Given the description of an element on the screen output the (x, y) to click on. 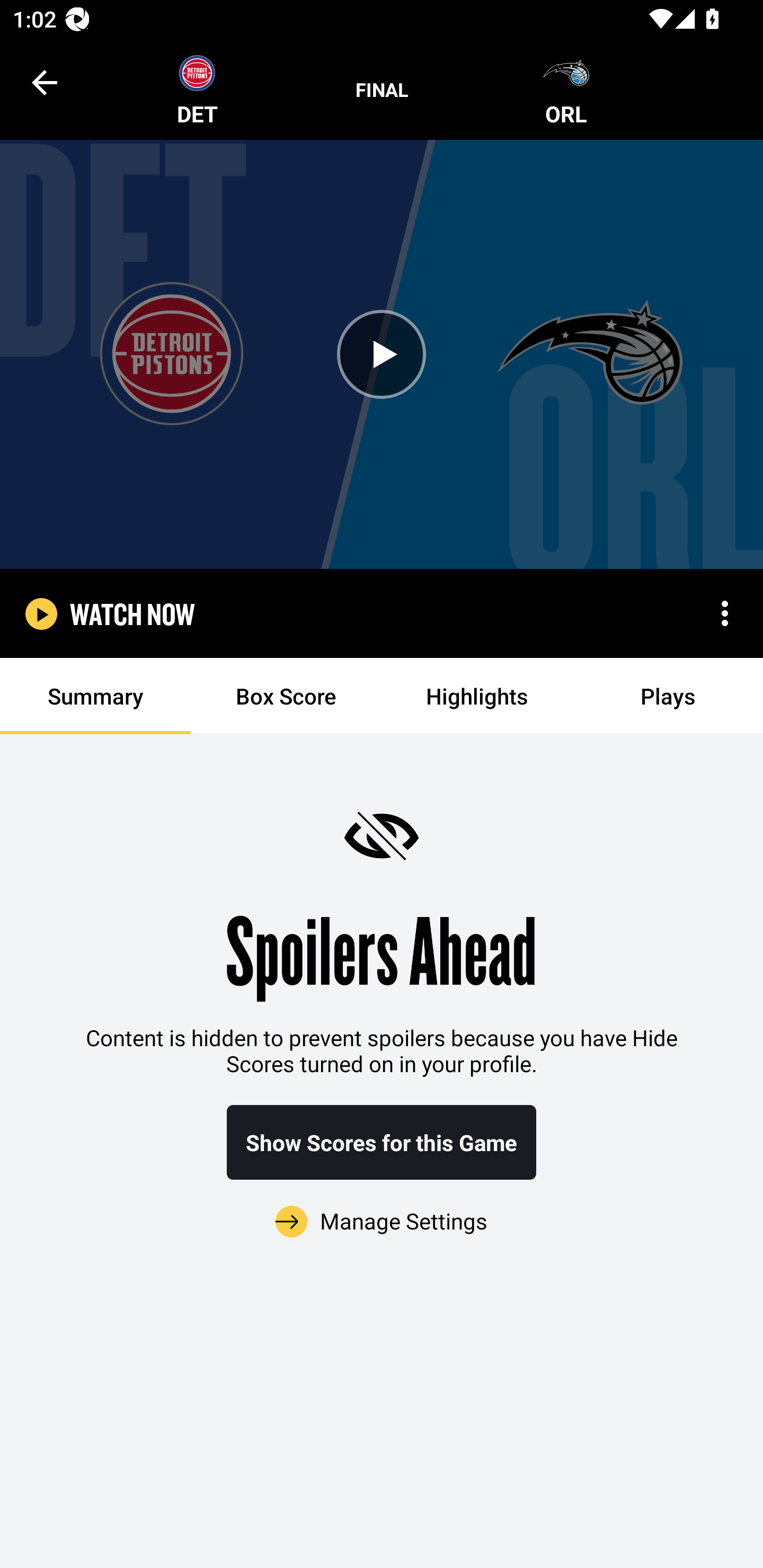
Navigate up (44, 82)
More options (724, 613)
WATCH NOW (132, 613)
Box Score (285, 695)
Highlights (476, 695)
Plays (667, 695)
Show Scores for this Game (381, 1141)
Manage Settings (381, 1210)
